Given the description of an element on the screen output the (x, y) to click on. 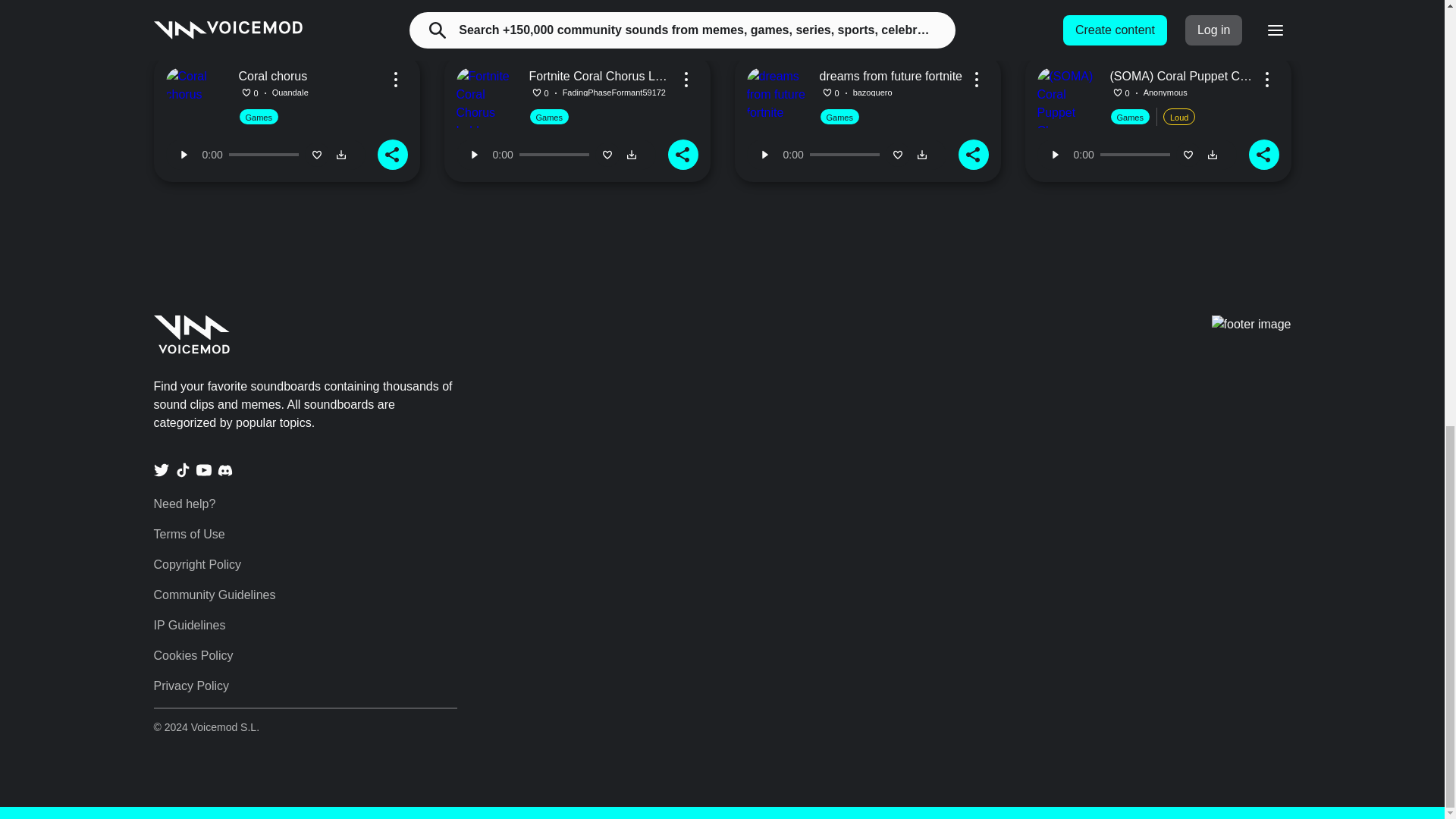
0 (844, 154)
0 (1135, 9)
0 (263, 154)
0 (554, 9)
0 (1135, 154)
0 (263, 9)
0 (554, 154)
0 (844, 9)
